Given the description of an element on the screen output the (x, y) to click on. 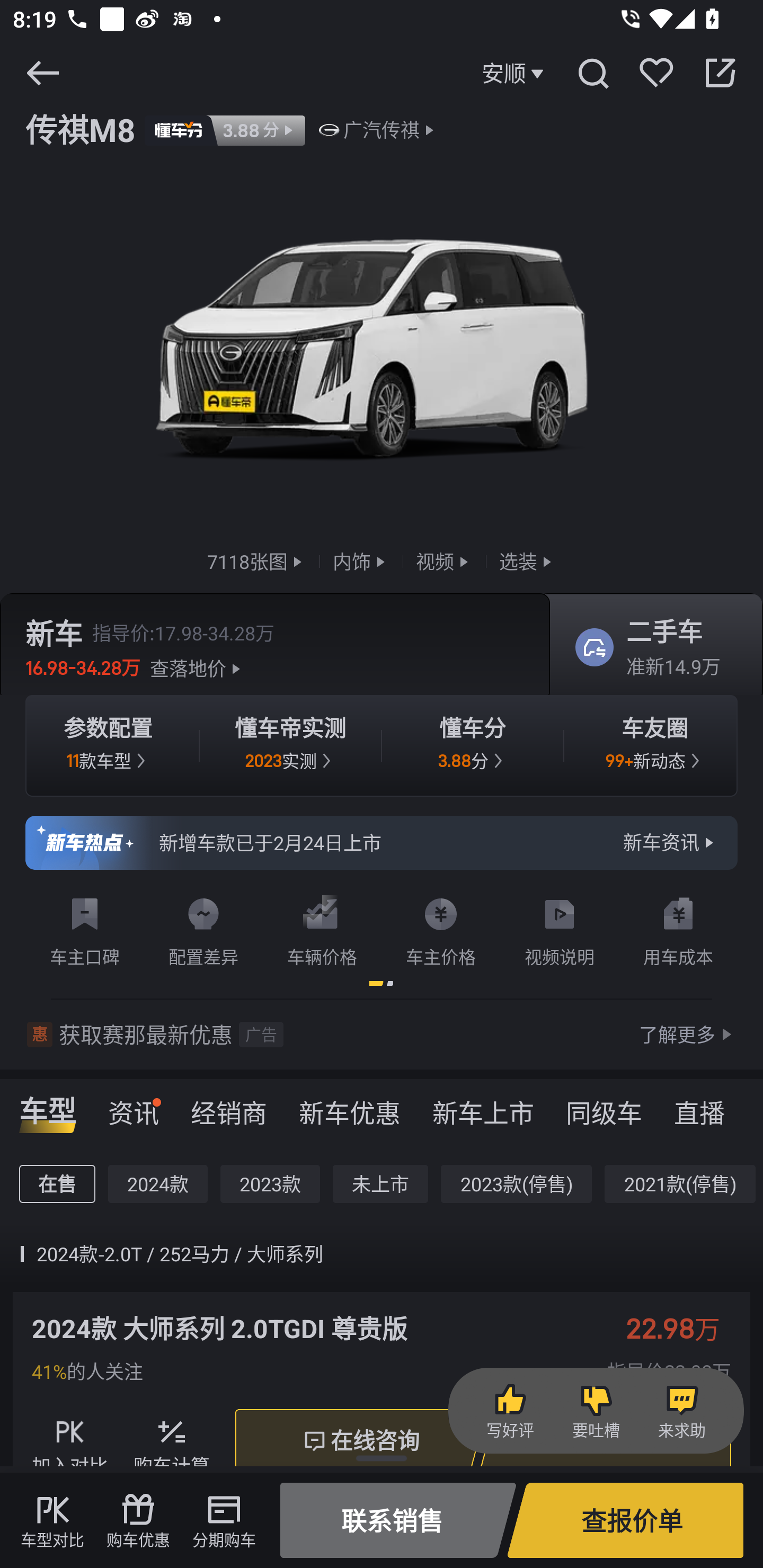
 (42, 72)
 (592, 72)
 (720, 72)
安顺 (514, 73)
广汽传祺 (381, 130)
7118张图 (256, 560)
内饰 (360, 560)
视频 (444, 560)
选装 (527, 560)
二手车 准新14.9万 (650, 646)
指导价:17.98-34.28万 (183, 632)
查落地价 (197, 667)
参数配置 11 款车型  (107, 745)
懂车帝实测 2023 实测  (290, 745)
懂车分 3.88 分  (472, 745)
车友圈 99+ 新动态  (654, 745)
新增车款已于2月24日上市 新车资讯 (381, 842)
车主口碑 (84, 929)
配置差异 (203, 929)
车辆价格 (321, 929)
车主价格 (440, 929)
视频说明 (559, 929)
用车成本 (677, 929)
惠 获取赛那最新优惠 广告 了解更多  (381, 1034)
车型 (47, 1106)
资讯 (133, 1106)
经销商 (228, 1106)
新车优惠 (349, 1106)
新车上市 (483, 1106)
同级车 (604, 1106)
直播 (698, 1106)
在售 (57, 1183)
2024款 (157, 1183)
2023款 (269, 1183)
未上市 (380, 1183)
2023款(停售) (516, 1183)
2021款(停售) (679, 1183)
22.98 万 (682, 1327)
写好评 (510, 1410)
要吐槽 (595, 1410)
来求助 (681, 1410)
加入对比 (70, 1440)
 购车计算 (171, 1440)
在线咨询 (360, 1440)
车型对比 (52, 1520)
购车优惠 (138, 1520)
分期购车 (224, 1520)
联系销售 (398, 1519)
查报价单 (625, 1519)
